Given the description of an element on the screen output the (x, y) to click on. 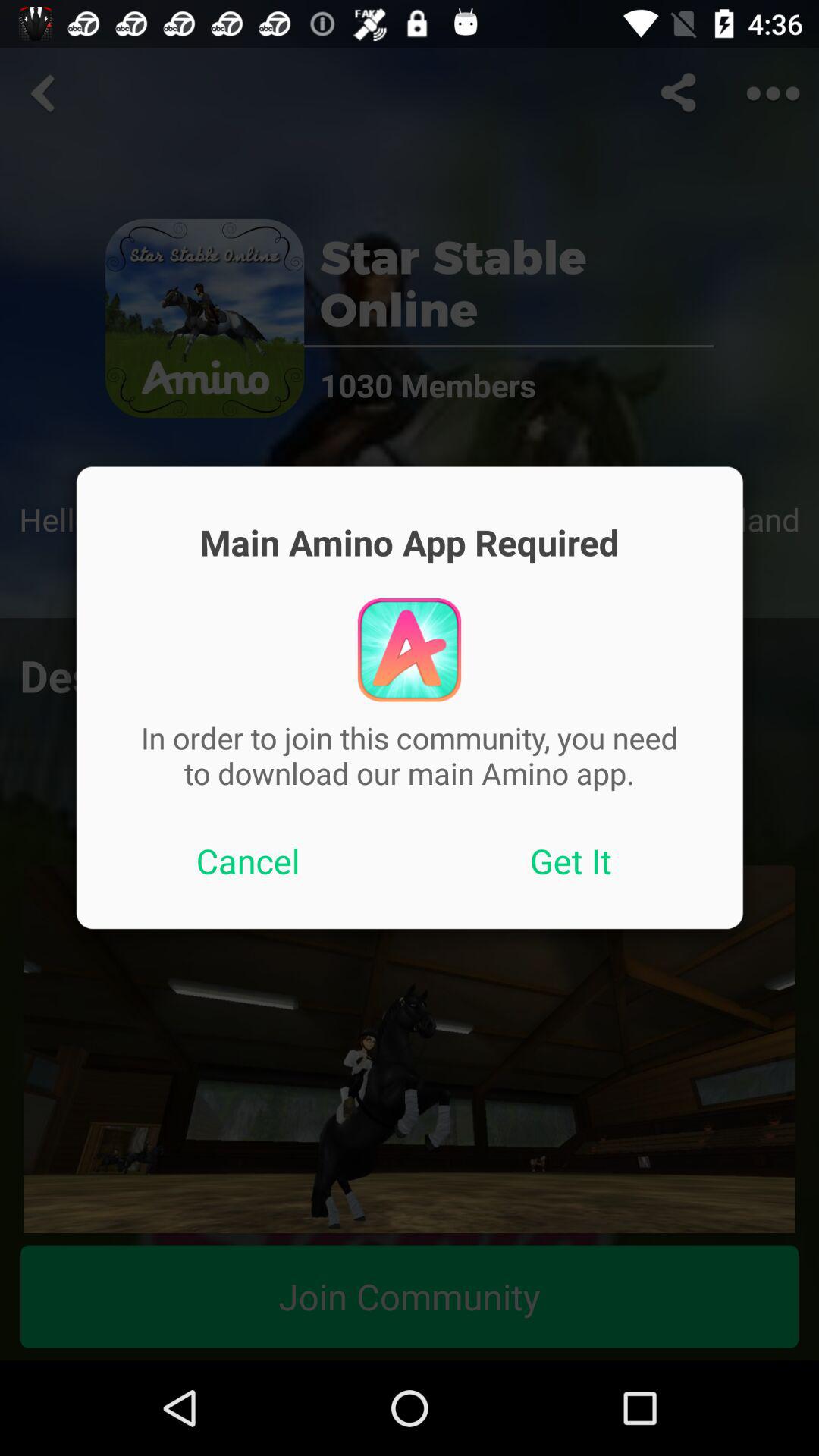
turn off the icon on the right (570, 860)
